Given the description of an element on the screen output the (x, y) to click on. 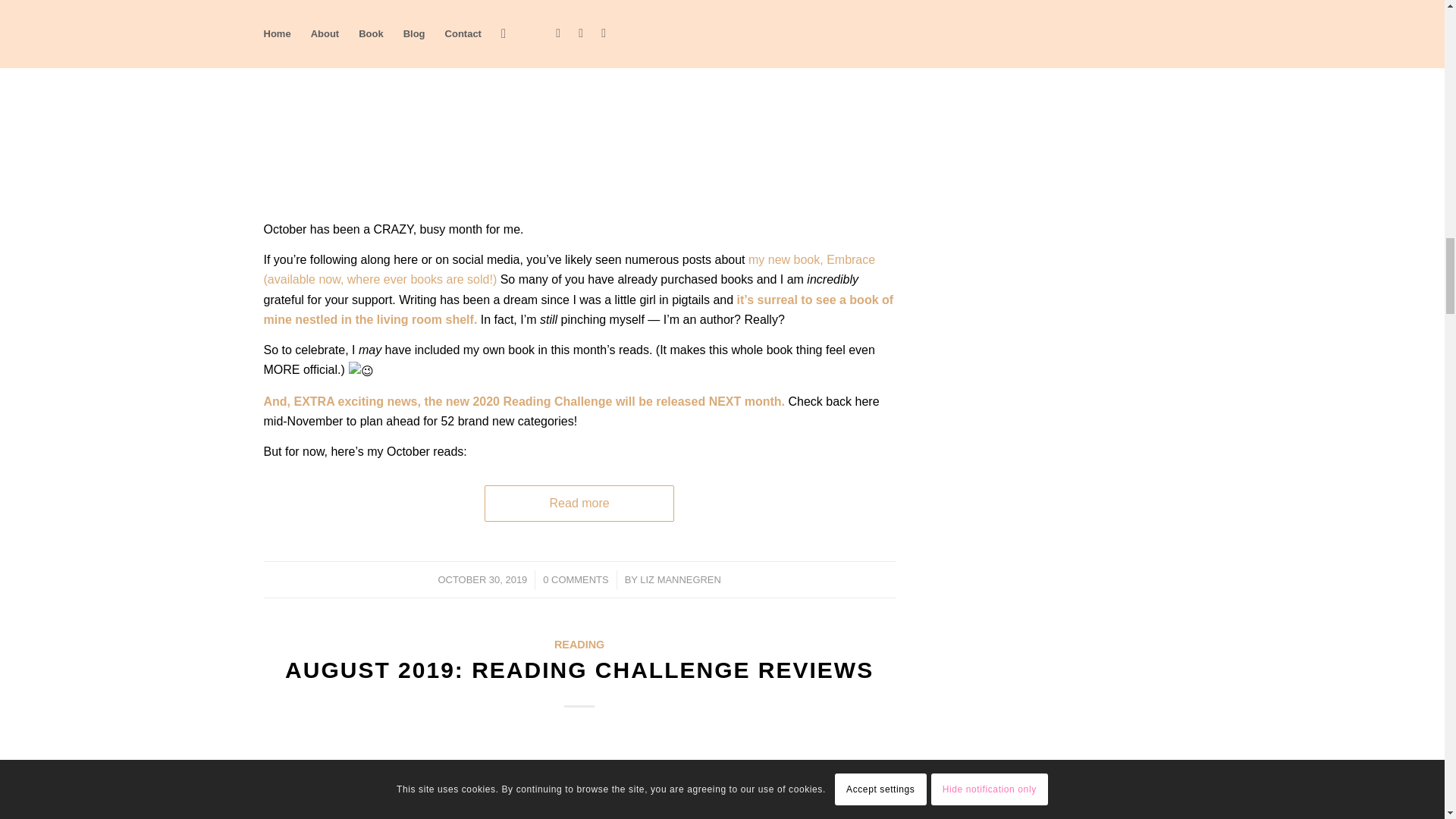
Posts by Liz Mannegren (680, 579)
October Book Review (579, 100)
READING (579, 644)
AUGUST 2019: READING CHALLENGE REVIEWS (579, 669)
0 COMMENTS (575, 579)
LIZ MANNEGREN (680, 579)
Permanent Link: August 2019: Reading Challenge Reviews (579, 669)
Read more (579, 503)
